Given the description of an element on the screen output the (x, y) to click on. 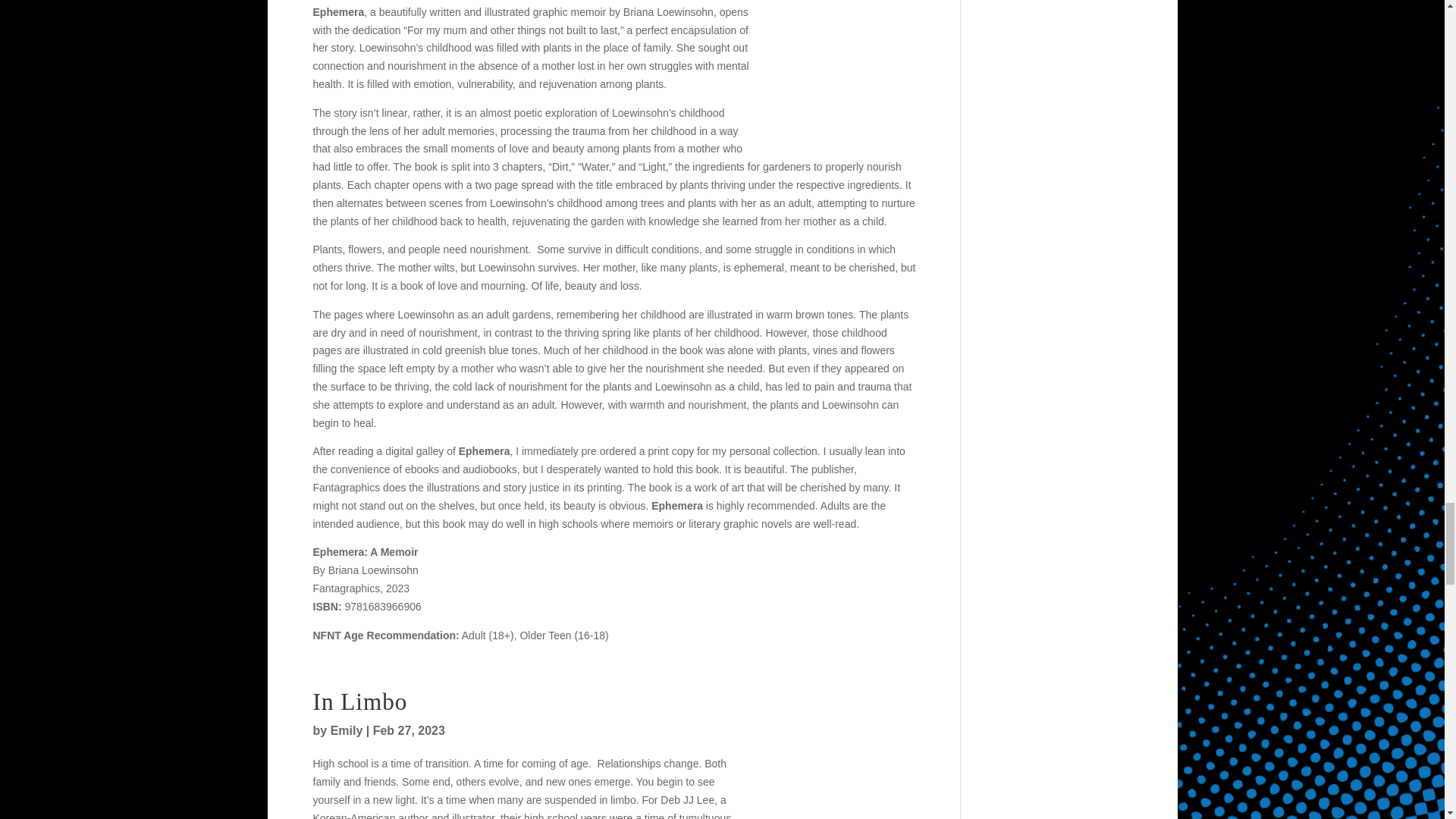
Posts by Emily (346, 730)
